Given the description of an element on the screen output the (x, y) to click on. 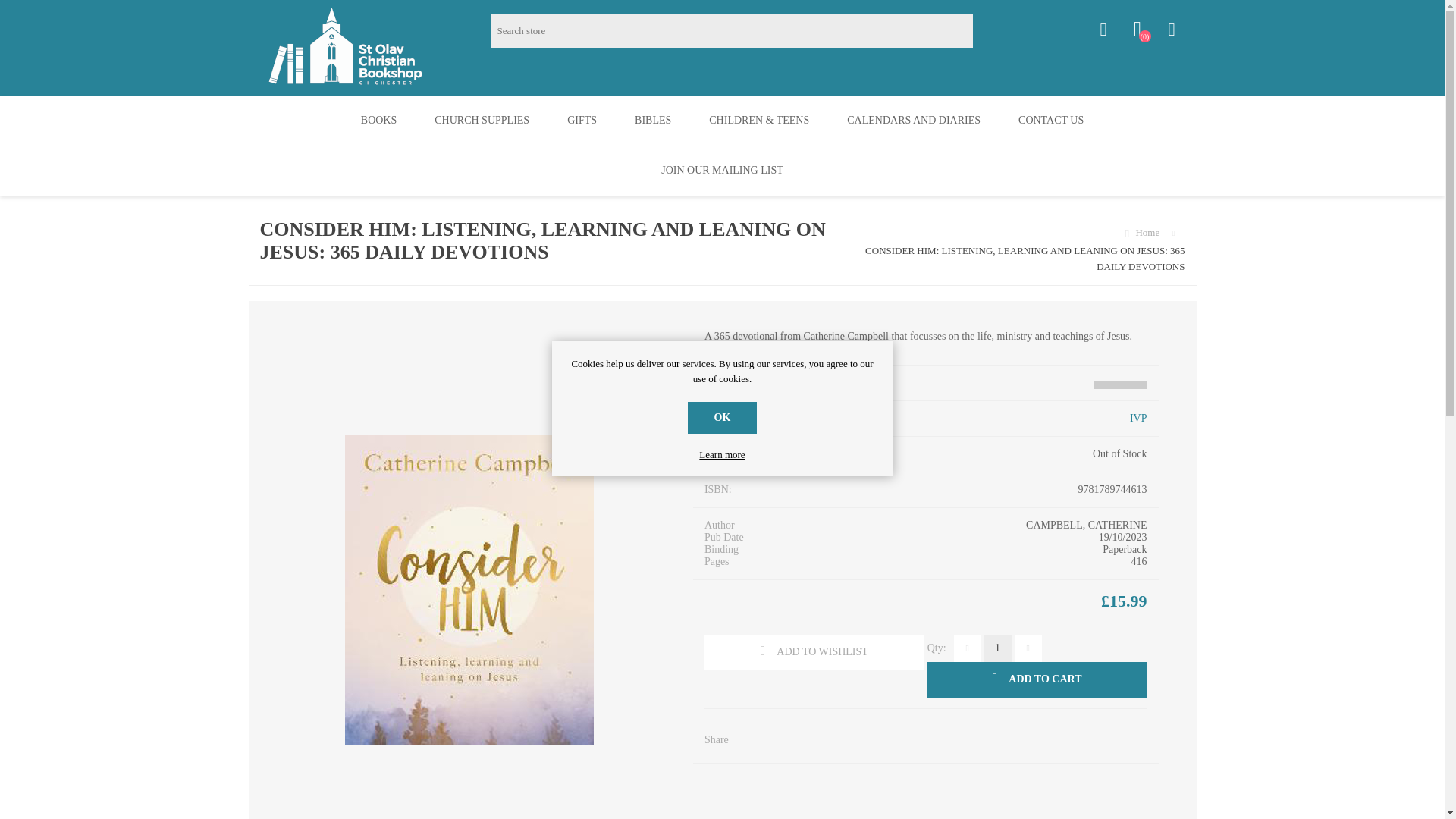
ADD TO CART (1037, 679)
IVP (1138, 418)
Gifts (581, 120)
JOIN OUR MAILING LIST (722, 170)
Shopping cart (1171, 29)
GIFTS (581, 120)
Search (989, 30)
Join our Mailing List (722, 170)
1 (997, 647)
Calendars and Diaries (913, 120)
